Given the description of an element on the screen output the (x, y) to click on. 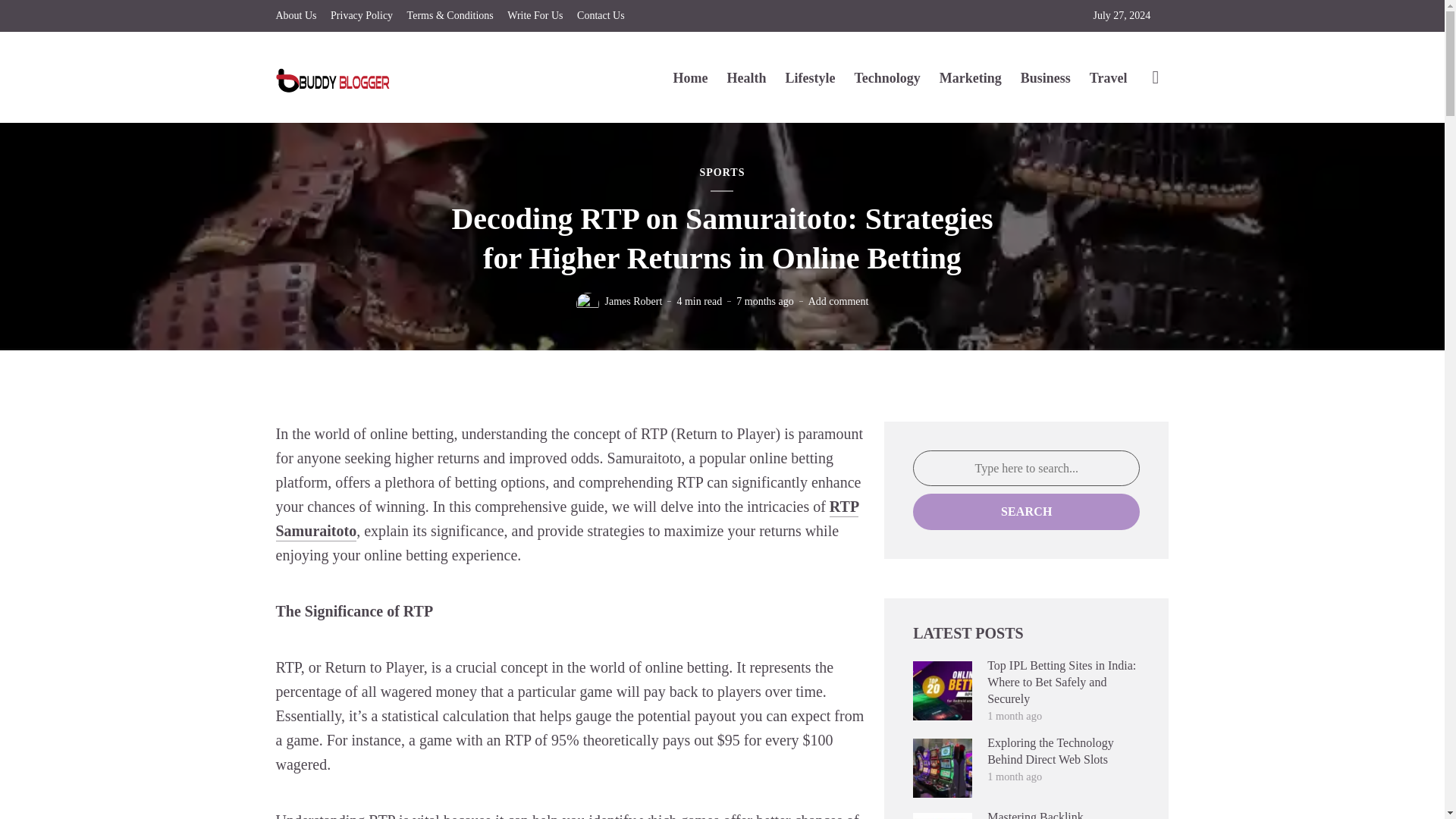
Lifestyle (809, 77)
James Robert (633, 301)
Business (1045, 77)
Add comment (838, 301)
SPORTS (721, 172)
Add comment (838, 301)
Contact Us (600, 15)
About Us (296, 15)
Home (689, 77)
Travel (1107, 77)
Marketing (970, 77)
Write For Us (534, 15)
Privacy Policy (361, 15)
Health (745, 77)
Technology (886, 77)
